Given the description of an element on the screen output the (x, y) to click on. 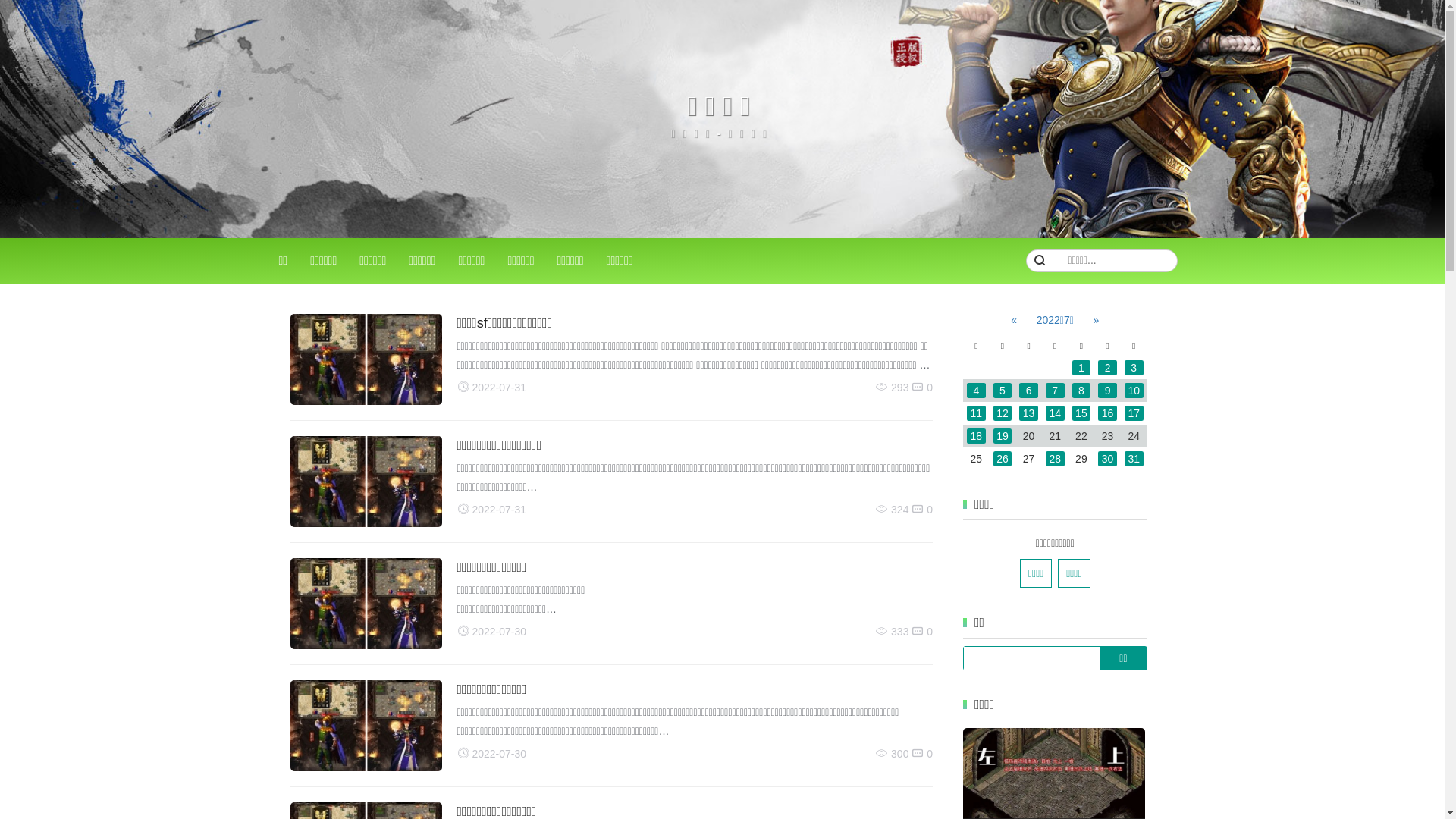
7 Element type: text (1054, 390)
13 Element type: text (1028, 412)
5 Element type: text (1002, 390)
14 Element type: text (1054, 412)
9 Element type: text (1107, 390)
1 Element type: text (1081, 367)
12 Element type: text (1002, 412)
3 Element type: text (1133, 367)
8 Element type: text (1081, 390)
19 Element type: text (1002, 435)
6 Element type: text (1028, 390)
28 Element type: text (1054, 458)
4 Element type: text (975, 390)
15 Element type: text (1081, 412)
26 Element type: text (1002, 458)
17 Element type: text (1133, 412)
16 Element type: text (1107, 412)
11 Element type: text (975, 412)
18 Element type: text (975, 435)
2 Element type: text (1107, 367)
31 Element type: text (1133, 458)
10 Element type: text (1133, 390)
30 Element type: text (1107, 458)
